Given the description of an element on the screen output the (x, y) to click on. 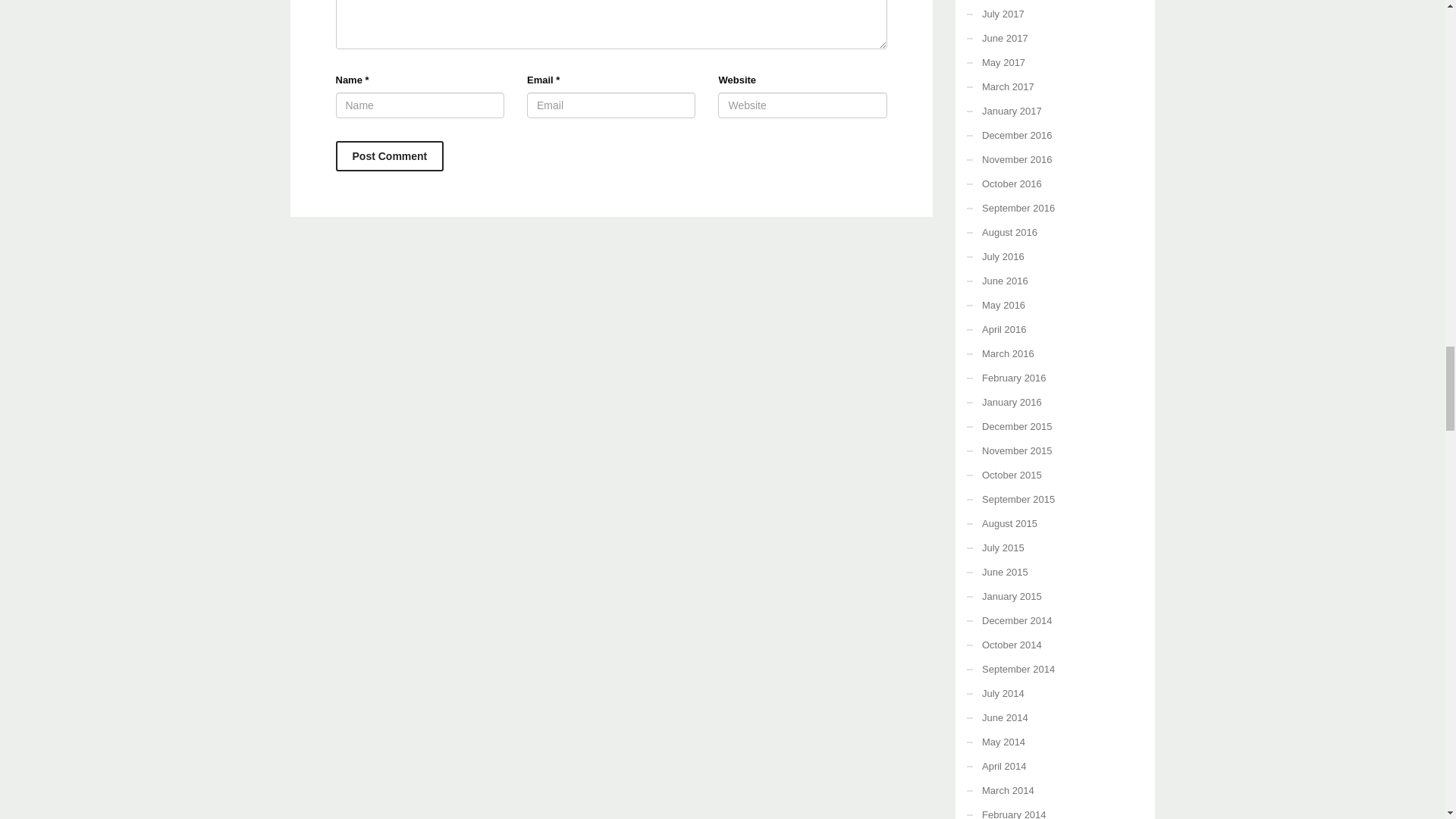
Post Comment (389, 155)
